Given the description of an element on the screen output the (x, y) to click on. 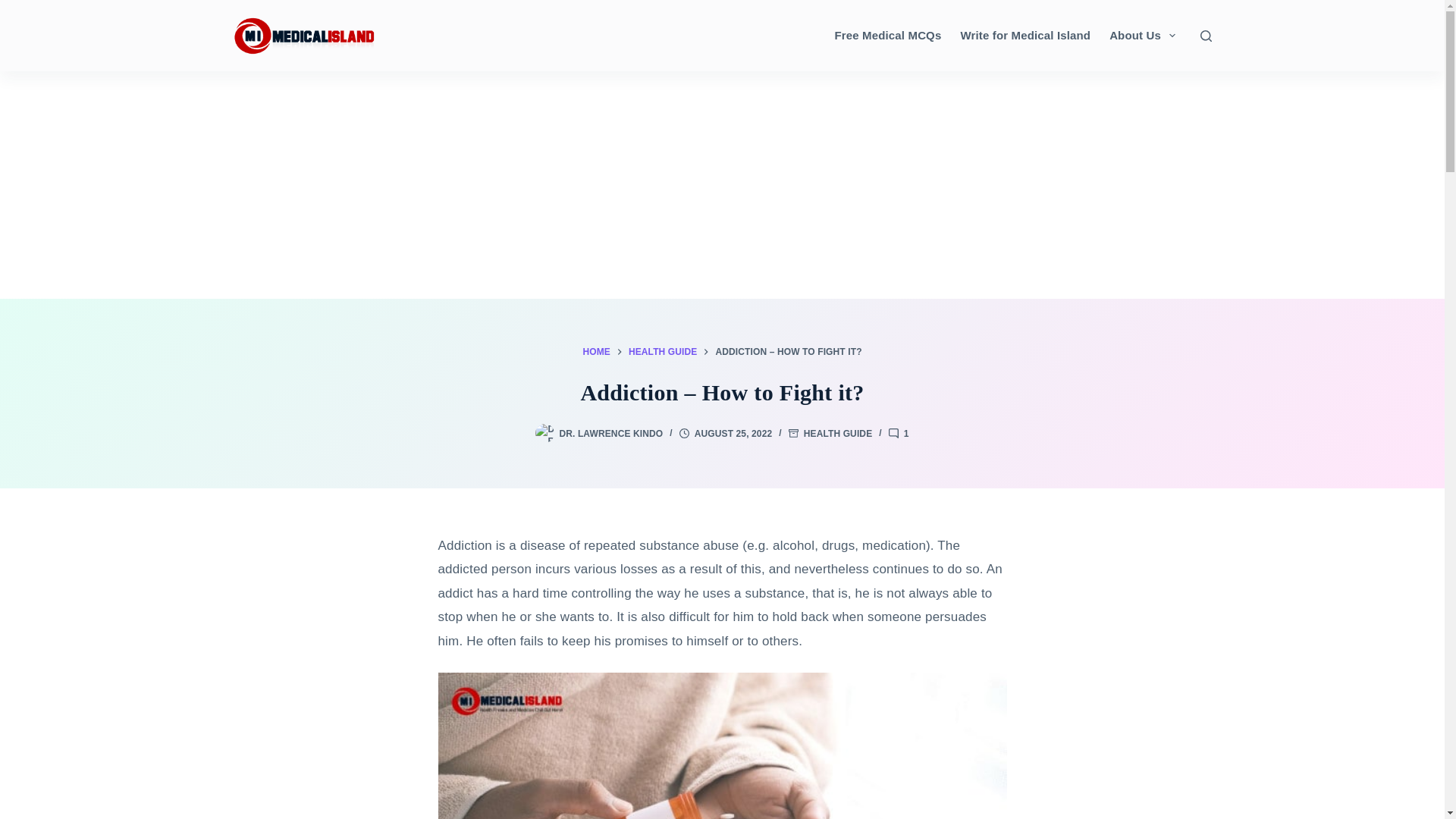
Guest Post (1025, 35)
HOME (596, 351)
About Us (1142, 35)
HEALTH GUIDE (837, 433)
Skip to content (15, 7)
HEALTH GUIDE (662, 351)
Write for Medical Island (1025, 35)
www.medicalmcqs.com (887, 35)
Free Medical MCQs (887, 35)
DR. LAWRENCE KINDO (610, 433)
